Given the description of an element on the screen output the (x, y) to click on. 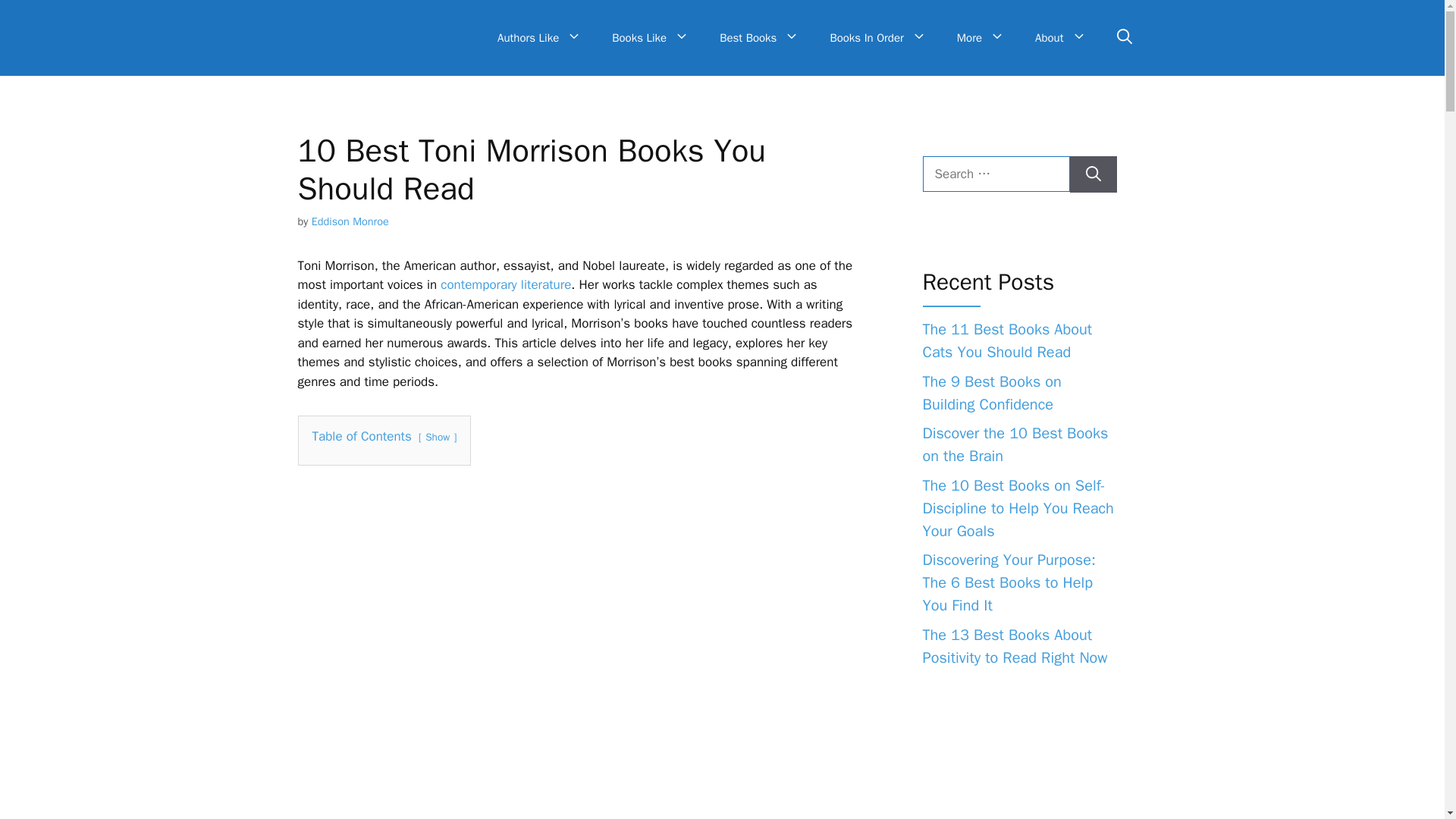
Best Books (758, 37)
View all posts by Eddison Monroe (349, 221)
Books Like (650, 37)
Authors Like (538, 37)
